Given the description of an element on the screen output the (x, y) to click on. 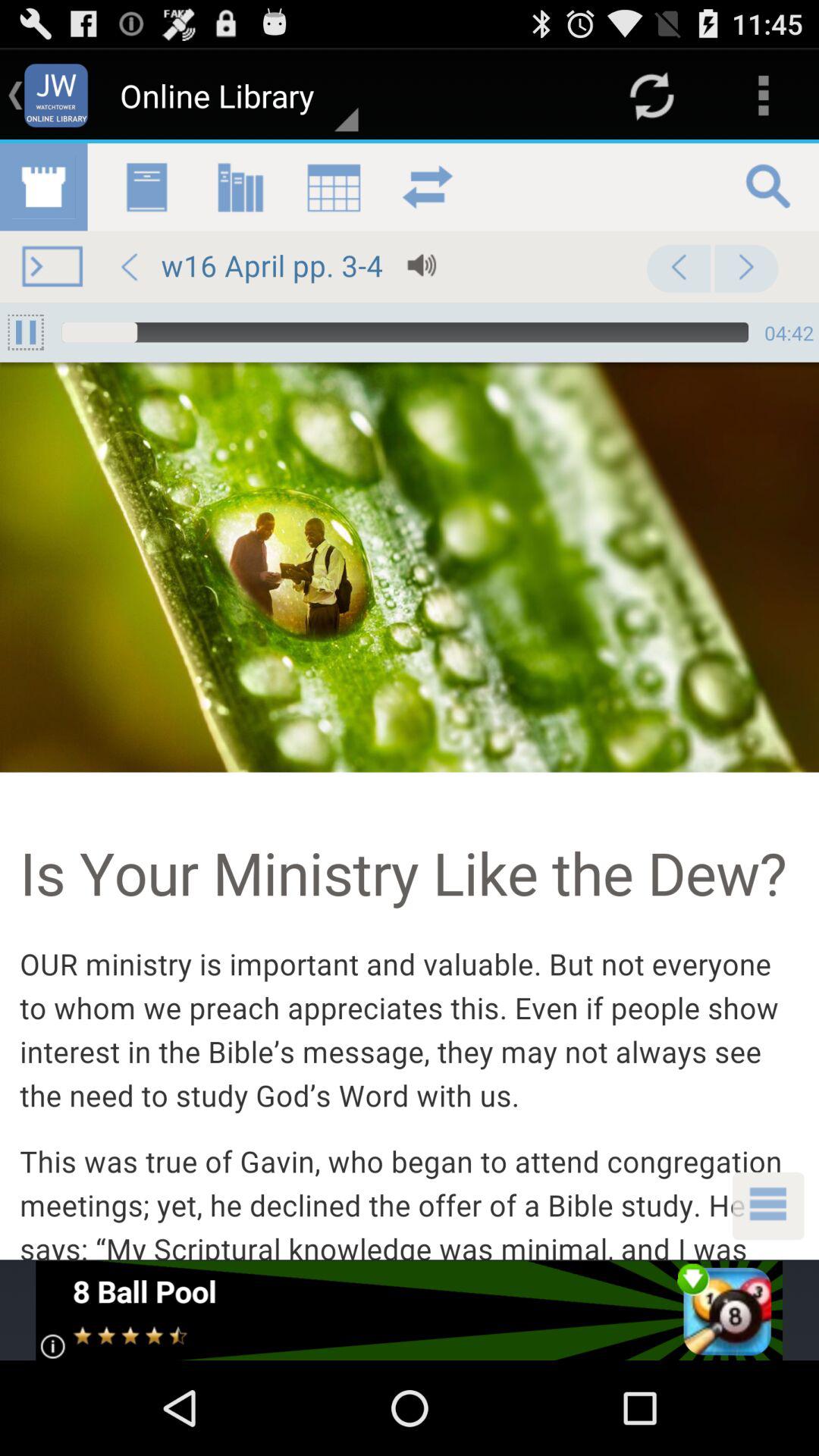
library icon (409, 701)
